Given the description of an element on the screen output the (x, y) to click on. 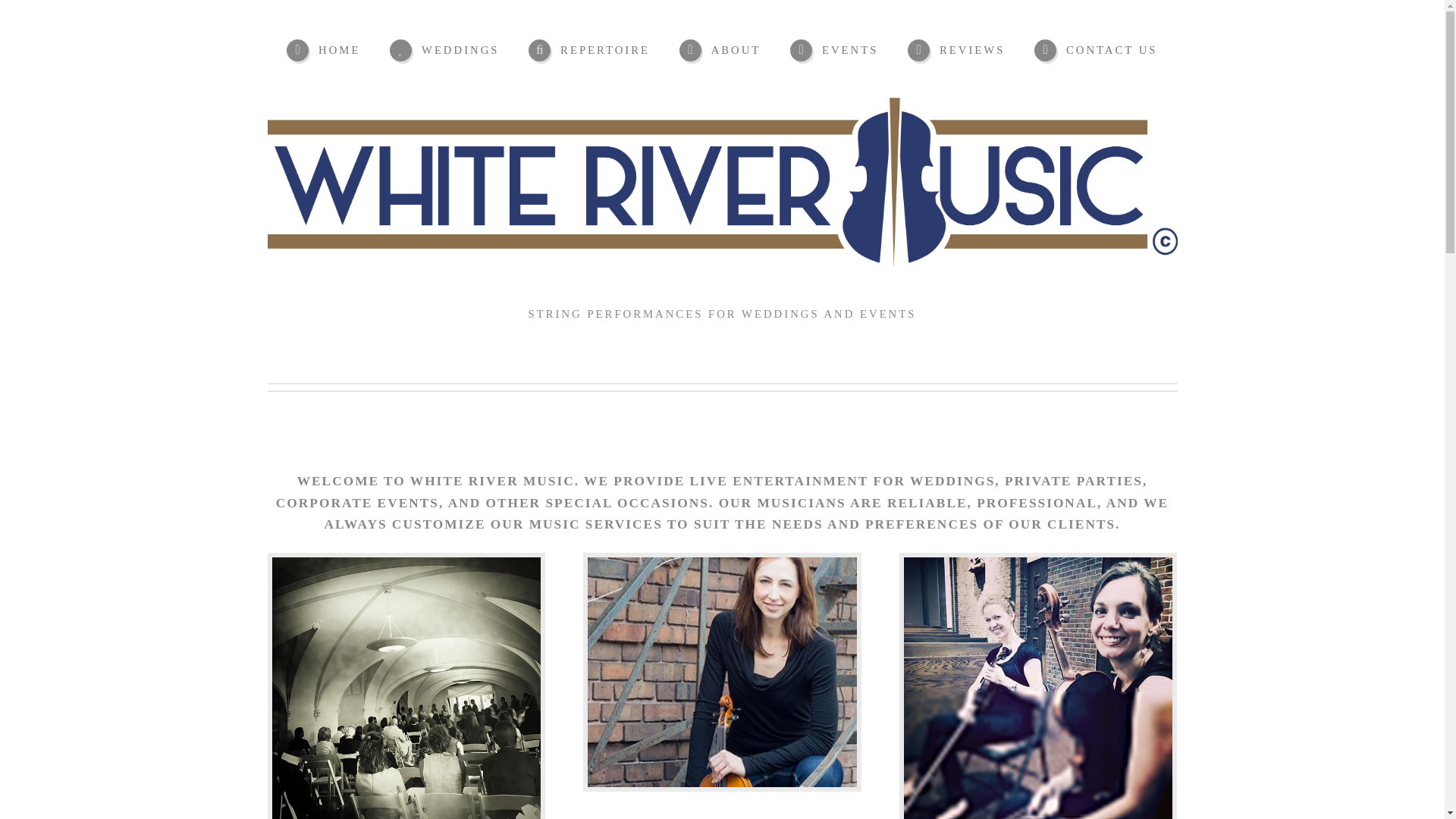
EVENTS (833, 50)
ABOUT (719, 50)
WEDDINGS (444, 50)
REPERTOIRE (588, 50)
CONTACT US (1095, 50)
HOME (322, 50)
REVIEWS (955, 50)
